Given the description of an element on the screen output the (x, y) to click on. 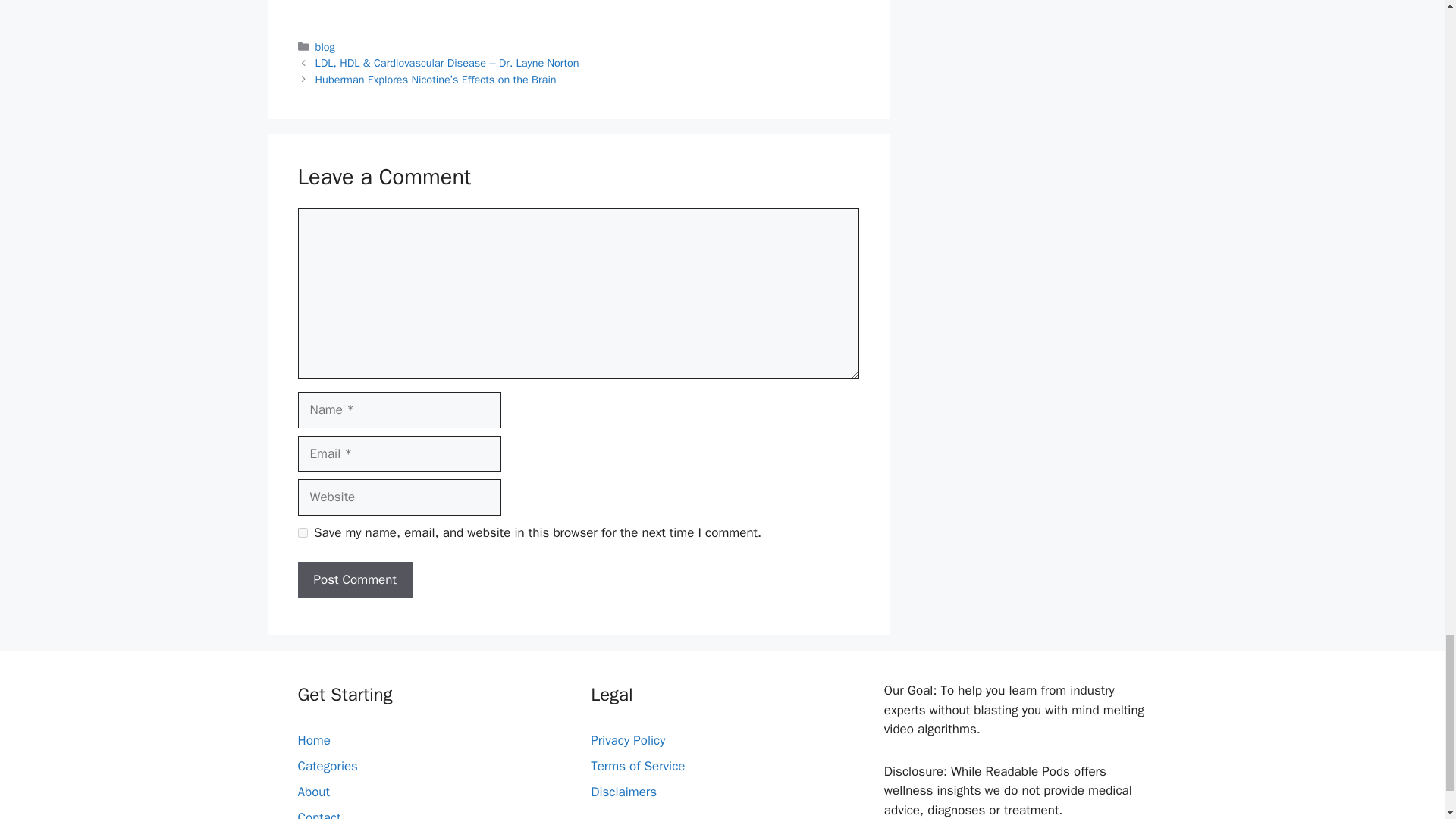
Post Comment (354, 579)
blog (324, 47)
Post Comment (354, 579)
Contact (318, 814)
Home (313, 740)
Disclaimers (623, 791)
Terms of Service (637, 765)
yes (302, 532)
About (313, 791)
Categories (326, 765)
